Given the description of an element on the screen output the (x, y) to click on. 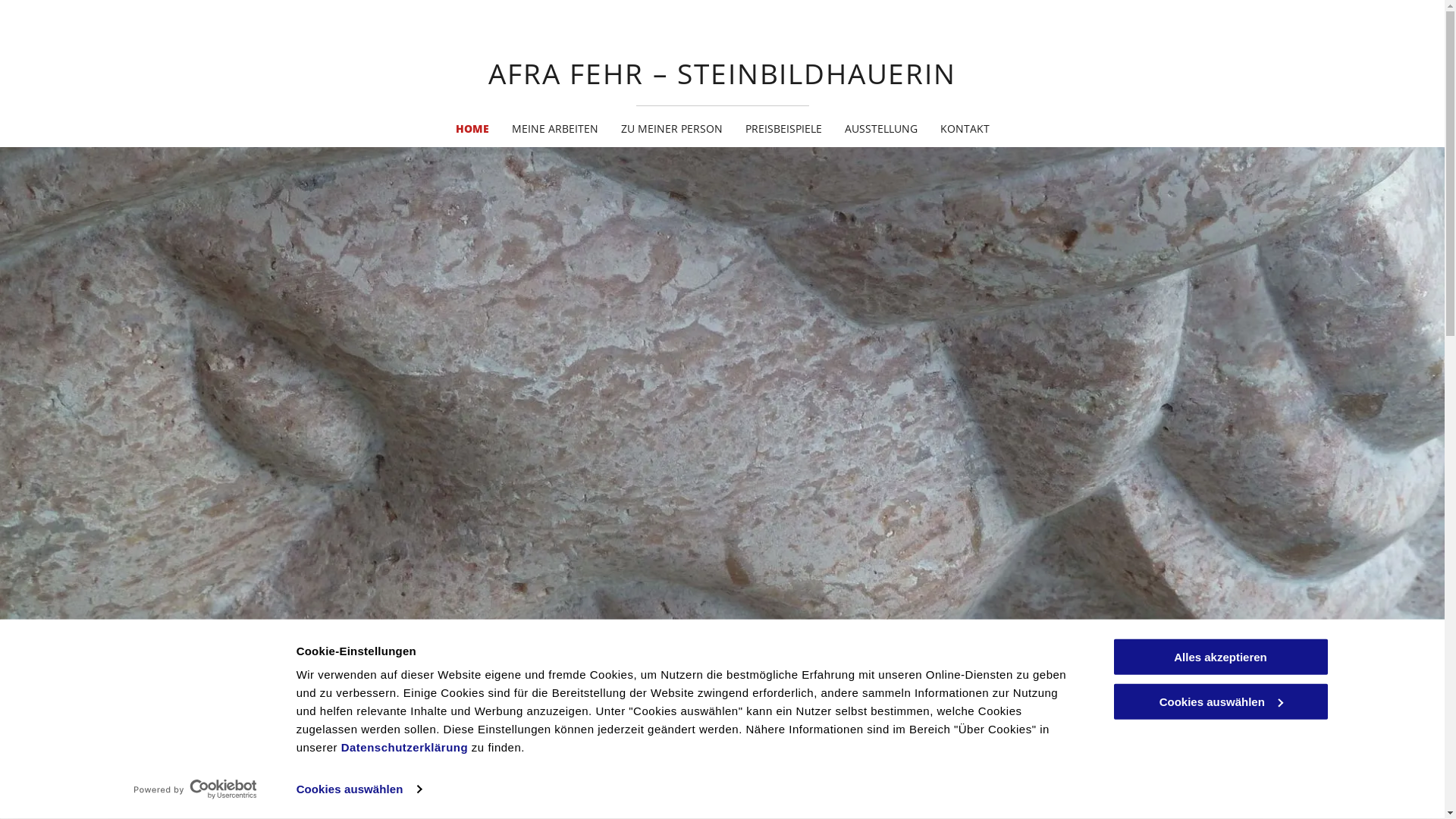
KONTAKT Element type: text (964, 128)
AUSSTELLUNG Element type: text (880, 128)
Alles akzeptieren Element type: text (1219, 656)
PREISBEISPIELE Element type: text (783, 128)
MEINE ARBEITEN Element type: text (554, 128)
HOME Element type: text (472, 128)
ZU MEINER PERSON Element type: text (671, 128)
